Given the description of an element on the screen output the (x, y) to click on. 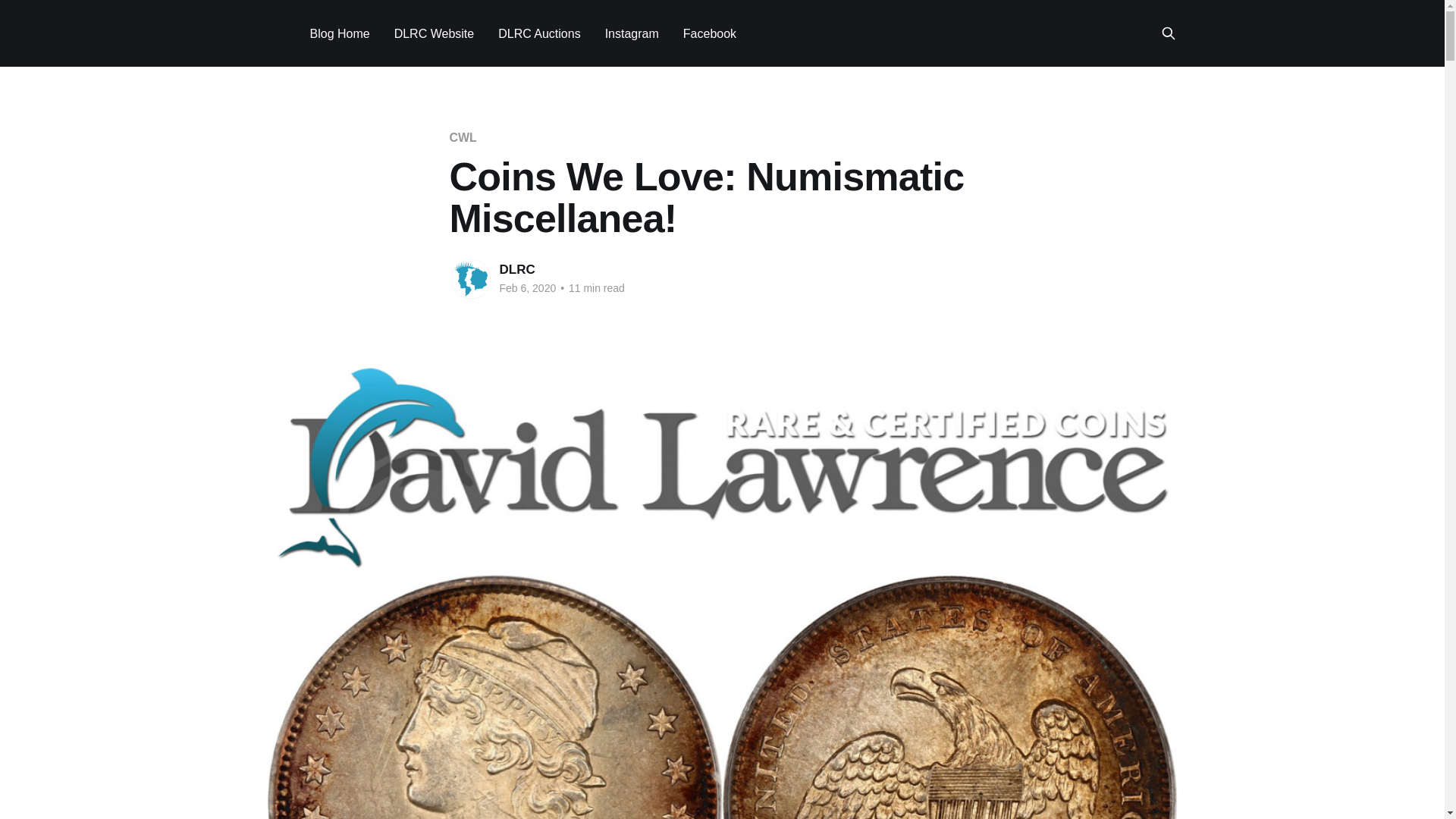
Instagram (632, 33)
CWL (462, 137)
DLRC Auctions (538, 33)
DLRC (516, 269)
DLRC Website (434, 33)
Blog Home (338, 33)
Facebook (709, 33)
